Given the description of an element on the screen output the (x, y) to click on. 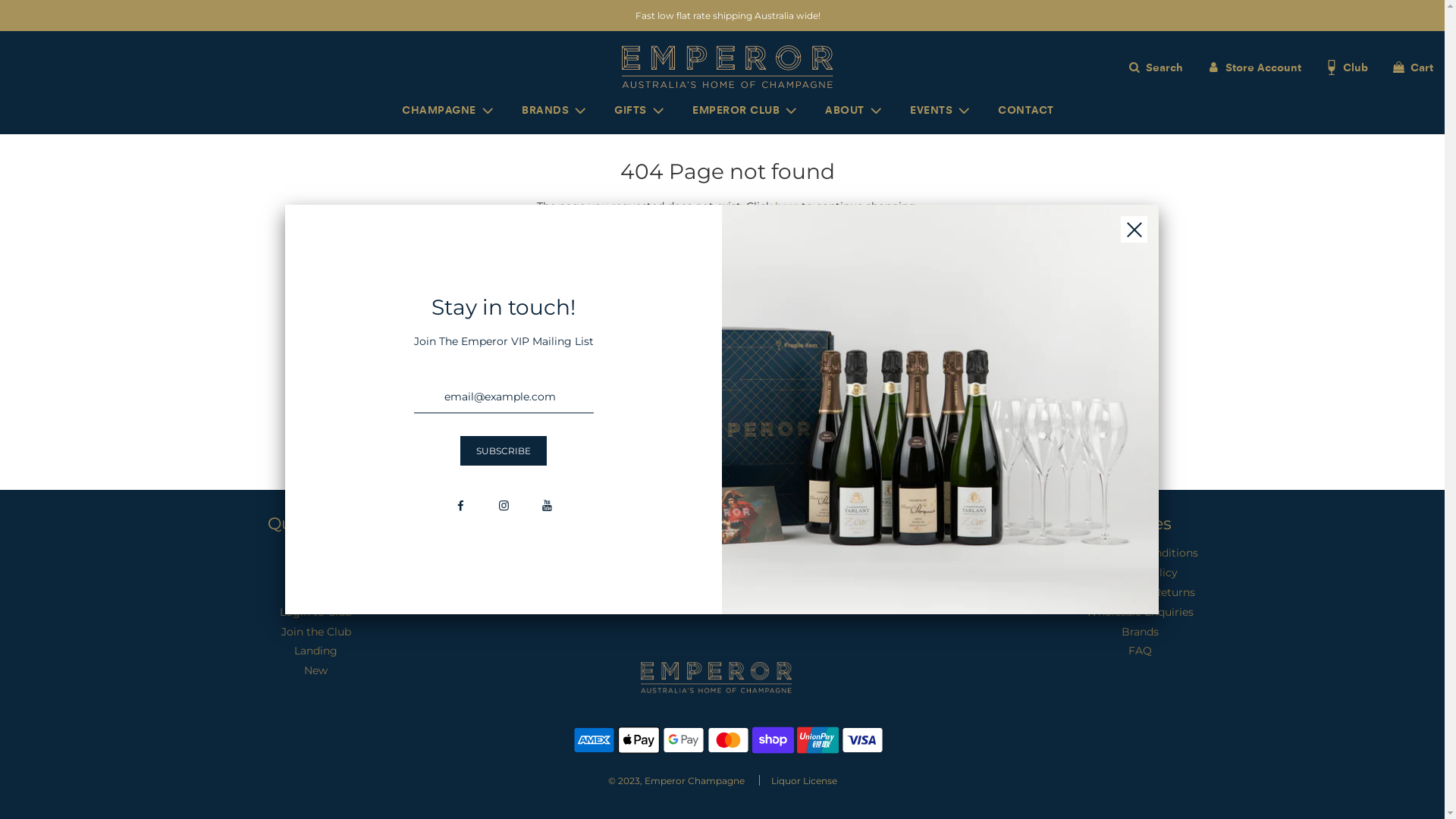
EVENTS Element type: text (940, 110)
Search Element type: text (1154, 67)
FAQ Element type: text (1139, 650)
About Us Element type: text (315, 572)
Club Element type: text (1345, 67)
Landing Element type: text (315, 650)
CONTACT Element type: text (1025, 109)
Cart Element type: text (1411, 67)
New Element type: text (315, 670)
Brands Element type: text (1139, 631)
here Element type: text (786, 206)
Refunds and Returns Element type: text (1139, 592)
Contact Element type: text (315, 552)
Join the Club Element type: text (316, 631)
Delivery Element type: text (316, 592)
EMPEROR CLUB Element type: text (745, 110)
Login to Club Element type: text (315, 611)
Terms and Conditions Element type: text (1140, 552)
BRANDS Element type: text (554, 110)
Liquor License Element type: text (803, 780)
Wholesale Enquiries Element type: text (1139, 611)
Store Account Element type: text (1253, 67)
Subscribe Element type: text (503, 450)
CHAMPAGNE Element type: text (448, 110)
GIFTS Element type: text (639, 110)
Privacy Policy Element type: text (1139, 572)
ABOUT Element type: text (854, 110)
